Given the description of an element on the screen output the (x, y) to click on. 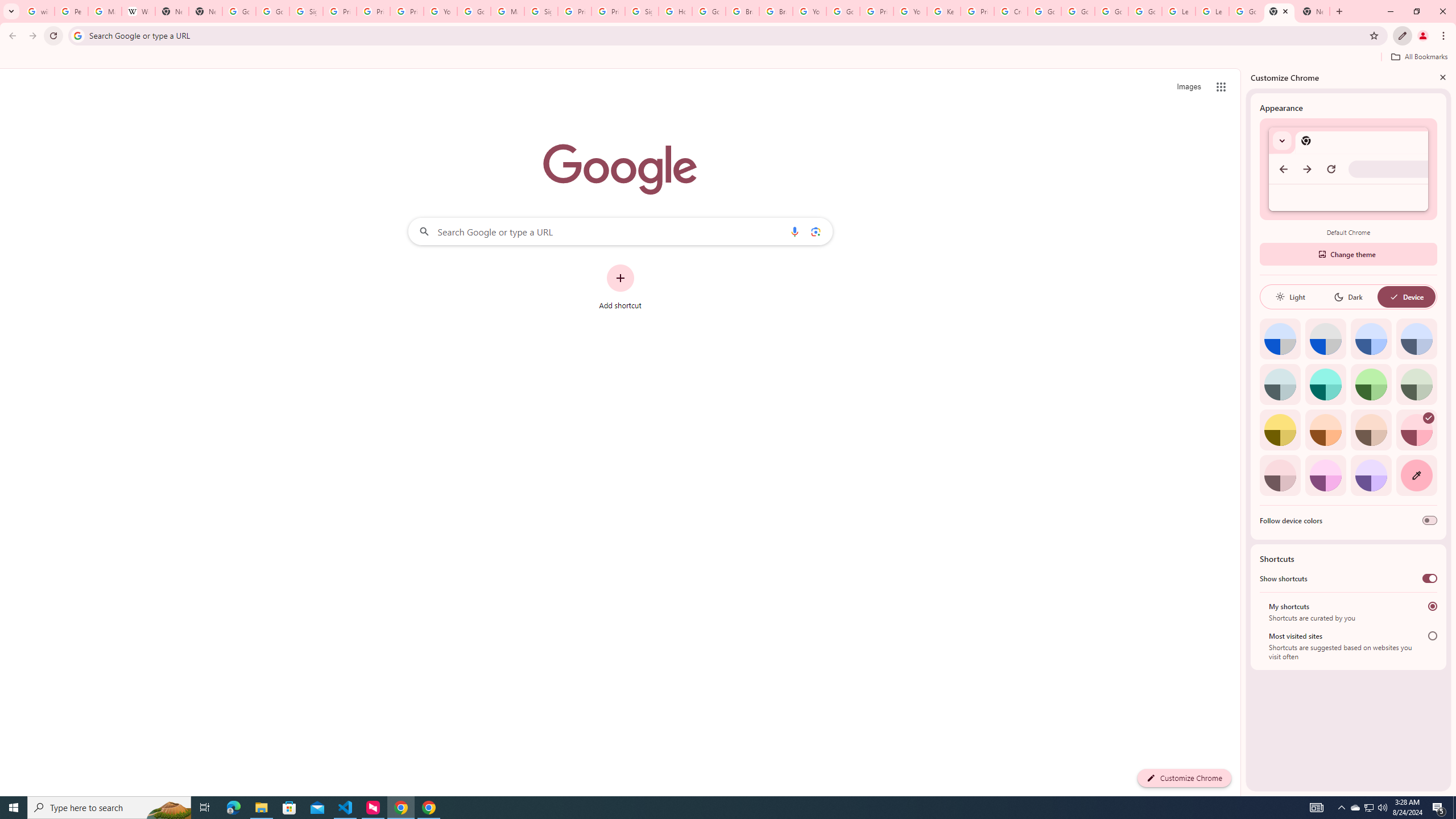
AutomationID: svg (1428, 417)
Aqua (1325, 383)
Search Google or type a URL (619, 230)
Google Account Help (1043, 11)
YouTube (441, 11)
New Tab (205, 11)
